Given the description of an element on the screen output the (x, y) to click on. 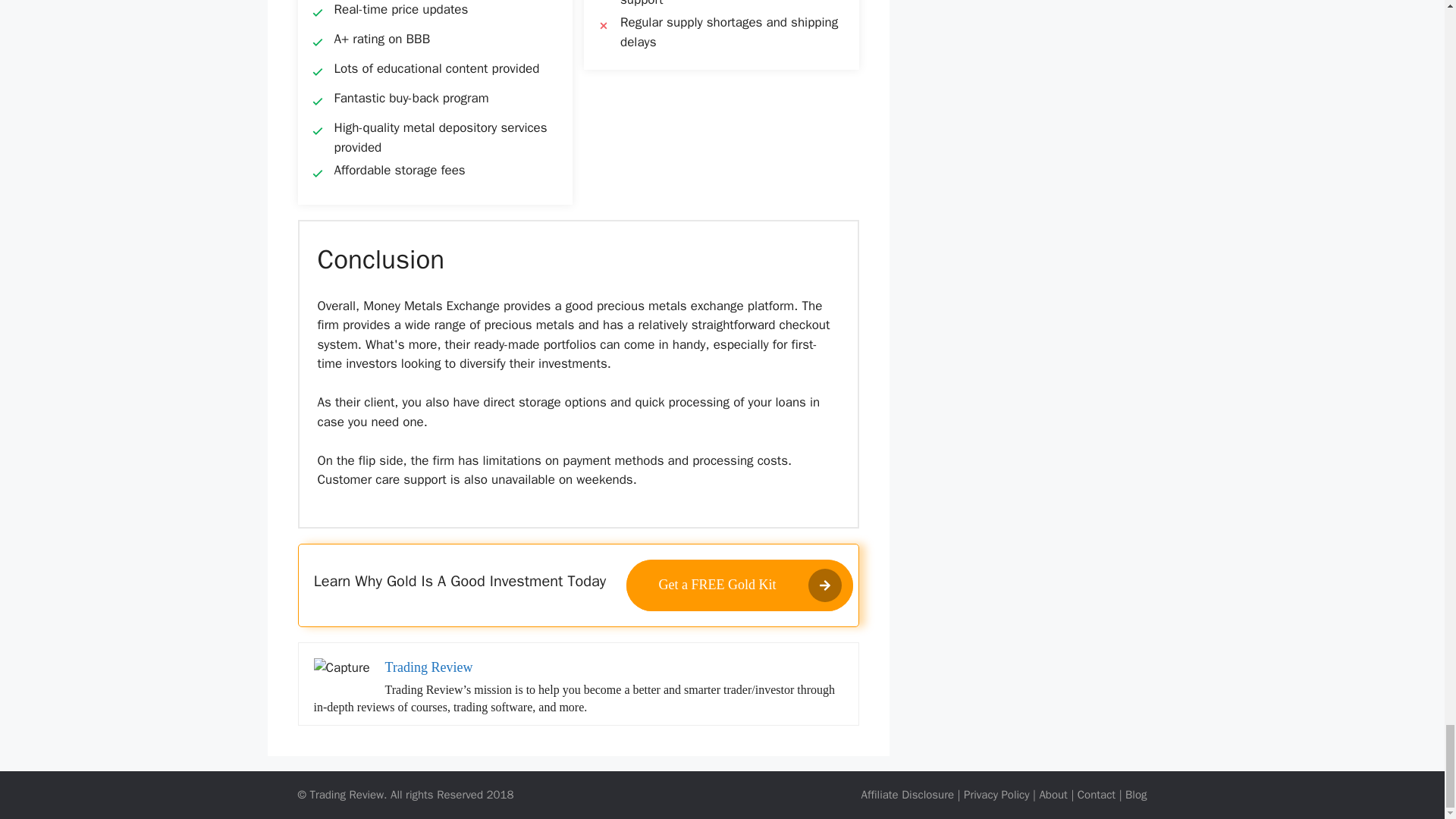
Money Metals Exchange Review 2 (341, 668)
Get a FREE Gold Kit (738, 584)
Trading Review (429, 667)
Affiliate Disclosure (908, 794)
Privacy Policy (996, 794)
